Given the description of an element on the screen output the (x, y) to click on. 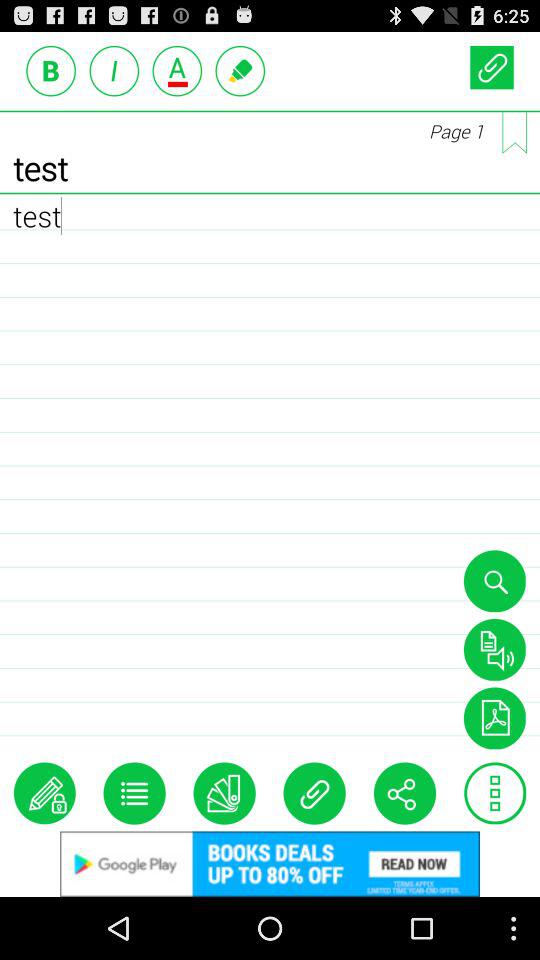
app advertisement (270, 864)
